Given the description of an element on the screen output the (x, y) to click on. 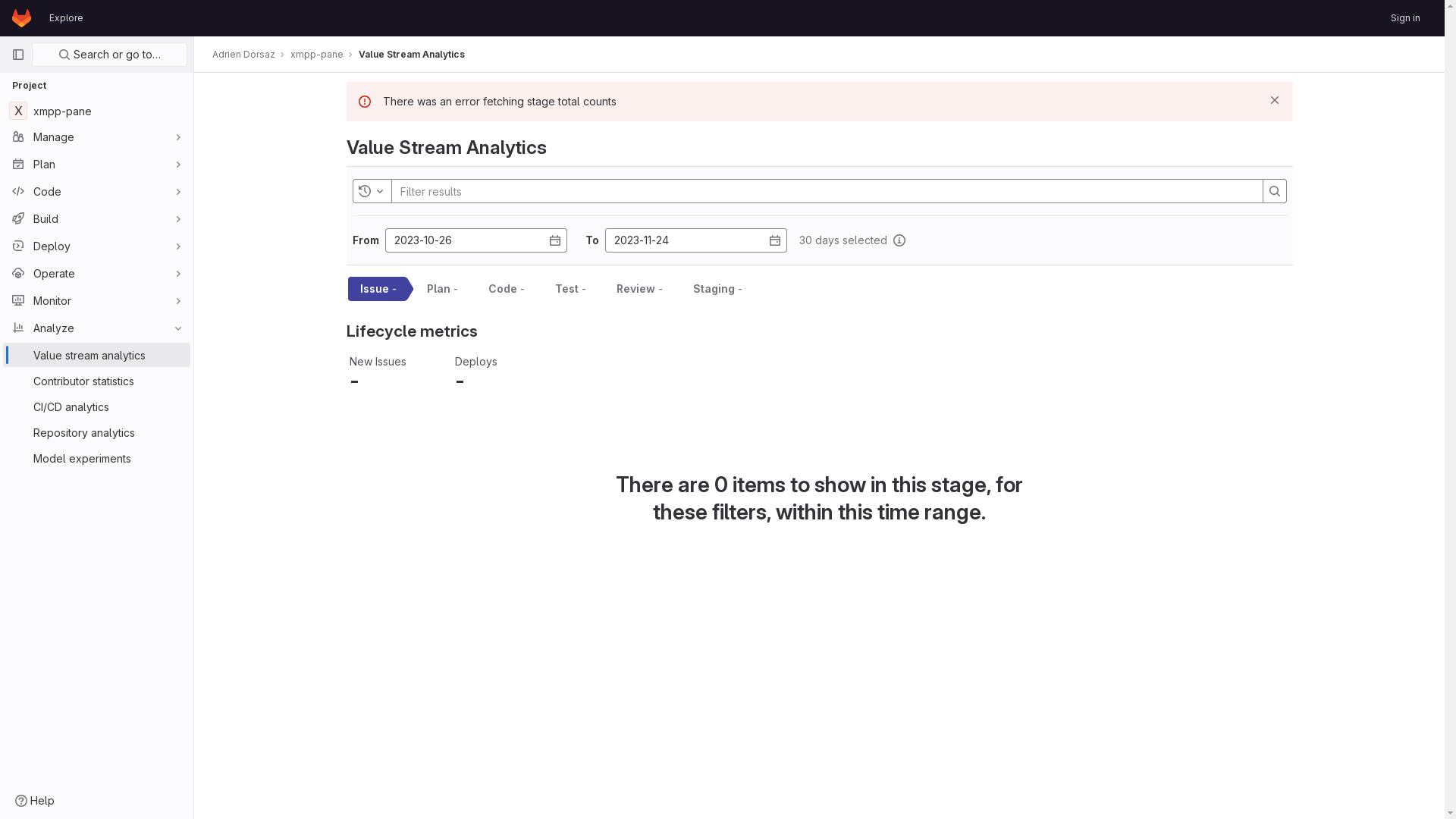
Toggle history Element type: text (371, 190)
Build Element type: text (96, 218)
Staging
- Element type: text (714, 288)
xmpp-pane Element type: text (316, 54)
Repository analytics Element type: text (96, 432)
CI/CD analytics Element type: text (96, 406)
Value Stream Analytics Element type: text (411, 54)
Plan
- Element type: text (439, 288)
Help Element type: text (34, 800)
Test
- Element type: text (567, 288)
Adrien Dorsaz Element type: text (243, 54)
Homepage Element type: hover (21, 18)
Deploy Element type: text (96, 245)
X
xmpp-pane Element type: text (96, 110)
Code
- Element type: text (504, 288)
Contributor statistics Element type: text (96, 380)
Monitor Element type: text (96, 300)
Sign in Element type: text (1405, 18)
Review
- Element type: text (636, 288)
Operate Element type: text (96, 272)
Code Element type: text (96, 190)
Manage Element type: text (96, 136)
Explore Element type: text (66, 18)
Value stream analytics Element type: text (96, 354)
Skip to content Element type: text (11, 18)
Plan Element type: text (96, 163)
Issue
- Element type: text (375, 288)
Model experiments Element type: text (96, 457)
Analyze Element type: text (96, 327)
